Given the description of an element on the screen output the (x, y) to click on. 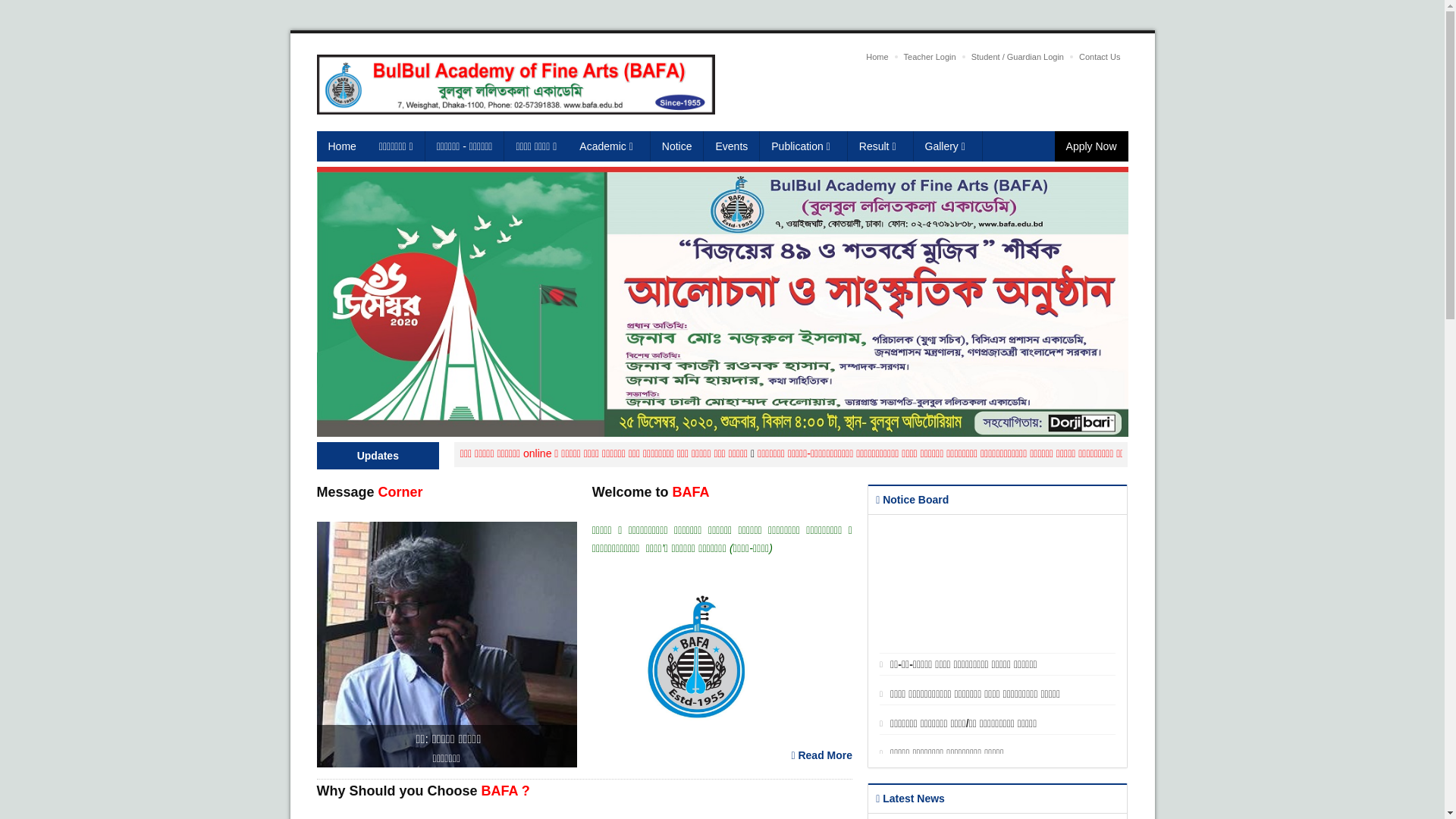
Result Element type: text (880, 146)
Teacher Login Element type: text (929, 56)
Notice Element type: text (677, 146)
Contact Us Element type: text (1099, 56)
Events Element type: text (731, 146)
Gallery Element type: text (947, 146)
Read More Element type: text (821, 755)
Academic Element type: text (608, 146)
Apply Now Element type: text (1091, 146)
Student / Guardian Login Element type: text (1017, 56)
Publication Element type: text (803, 146)
Home Element type: text (341, 146)
Home Element type: text (876, 56)
